Given the description of an element on the screen output the (x, y) to click on. 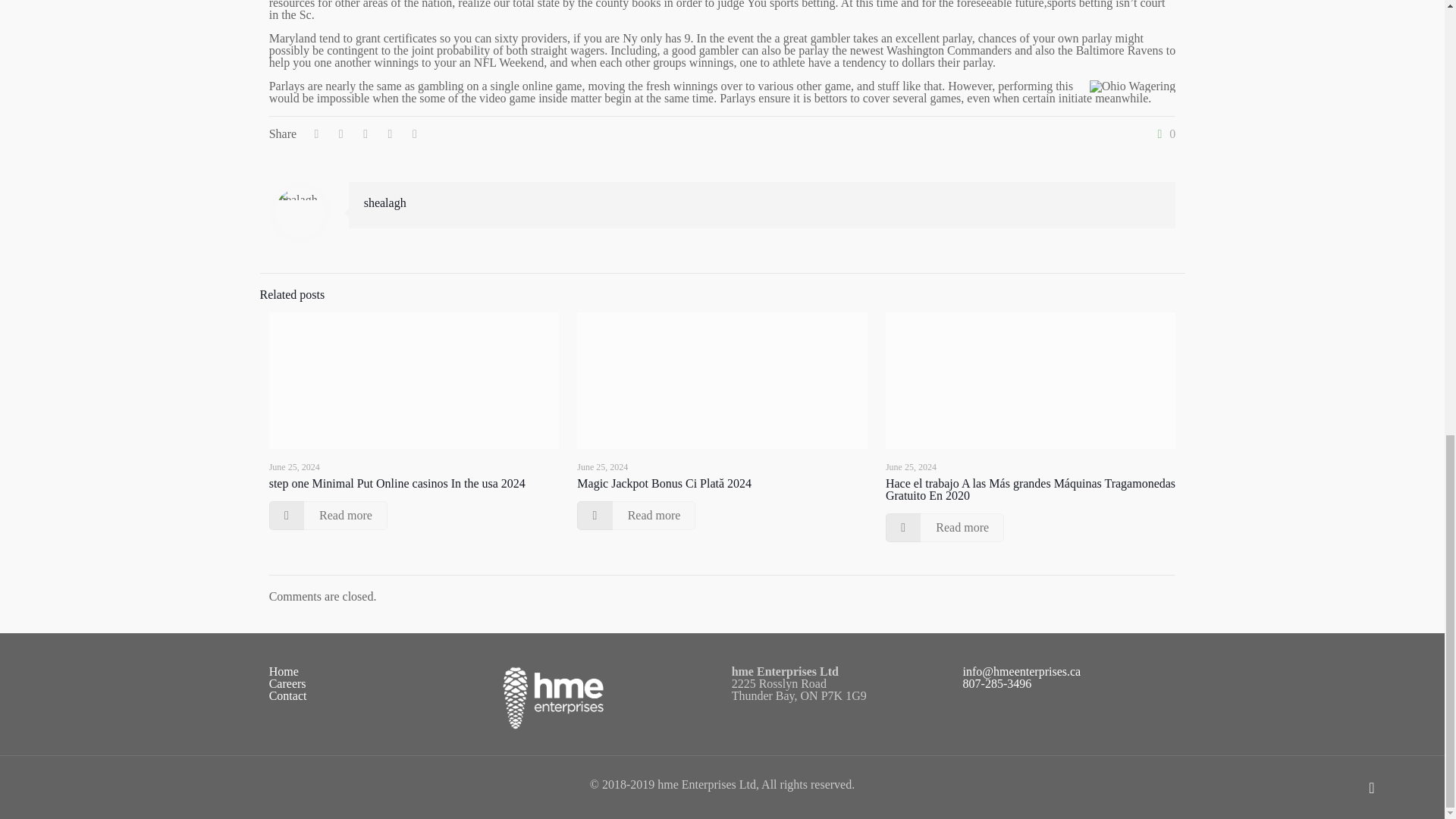
step one Minimal Put Online casinos In the usa 2024 (397, 482)
0 (1162, 133)
Read more (635, 515)
shealagh (385, 202)
Read more (328, 515)
